Given the description of an element on the screen output the (x, y) to click on. 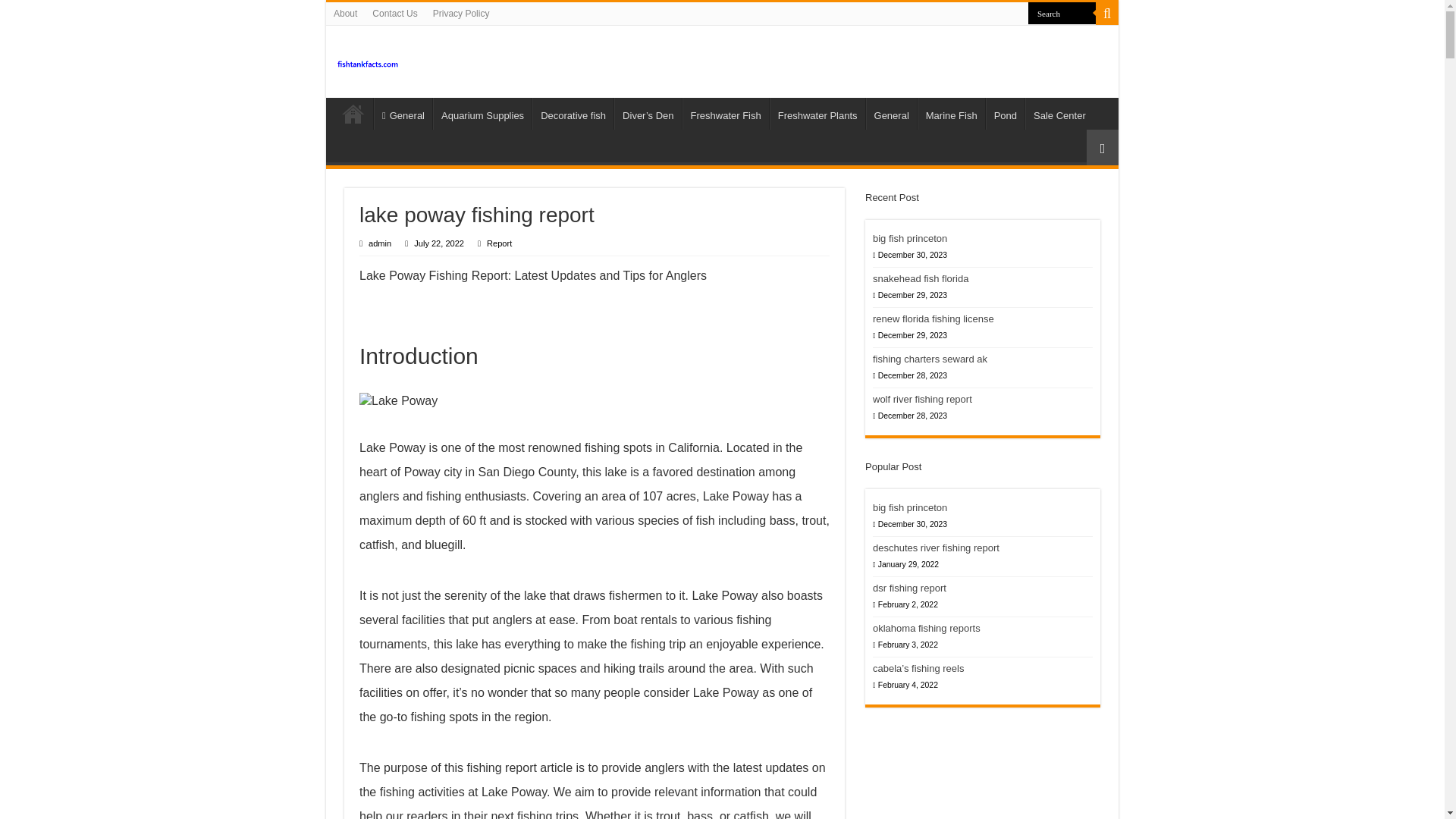
Freshwater Fish (725, 113)
Aquarium Supplies (481, 113)
Report (499, 243)
Pond (1005, 113)
Contact Us (395, 13)
Marine Fish (951, 113)
Fish Tank Facts (367, 61)
Decorative fish (572, 113)
Search (1061, 13)
Search (1107, 13)
